Given the description of an element on the screen output the (x, y) to click on. 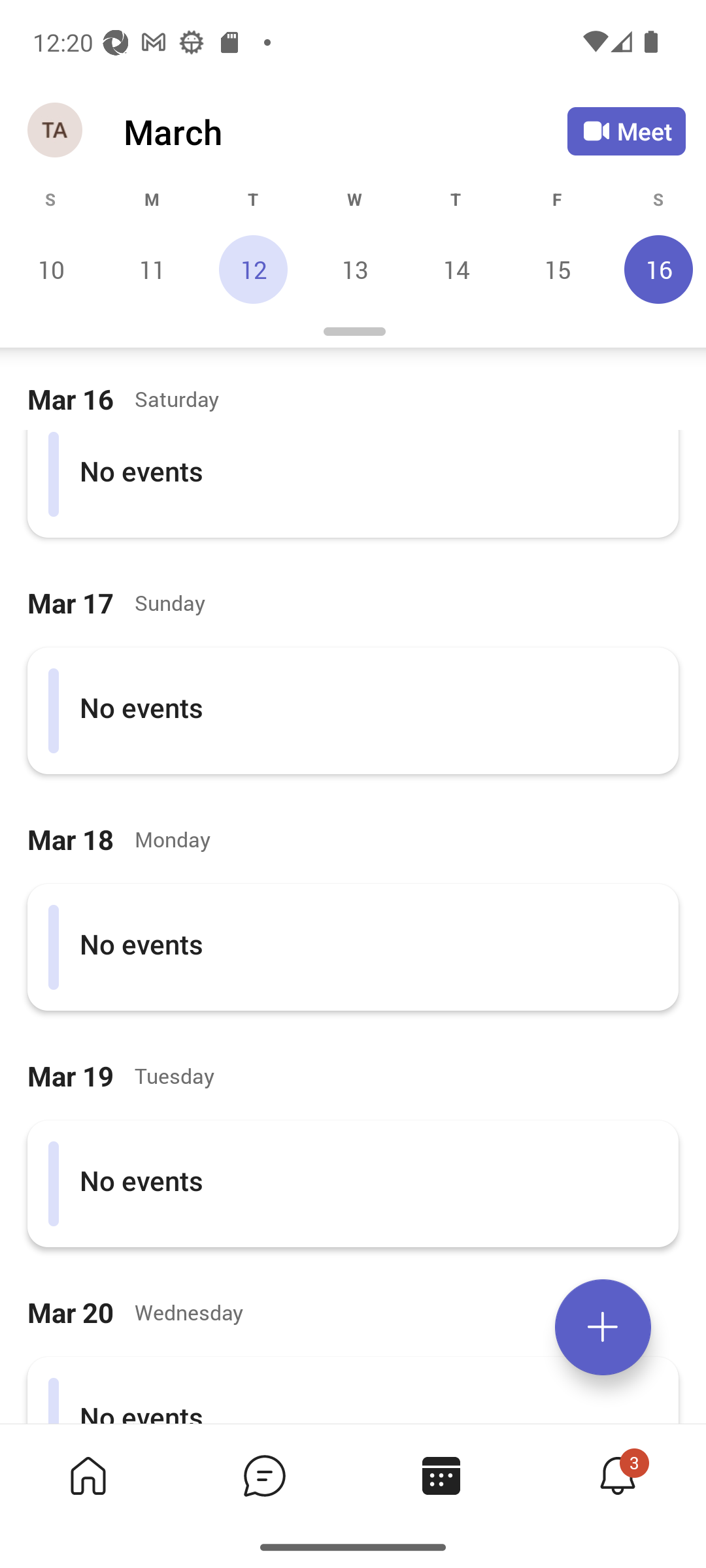
Navigation (56, 130)
Meet Meet now or join with an ID (626, 130)
March March Calendar Agenda View (345, 131)
Sunday, March 10 10 (50, 269)
Monday, March 11 11 (151, 269)
Tuesday, March 12, Today 12 (253, 269)
Wednesday, March 13 13 (354, 269)
Thursday, March 14 14 (455, 269)
Friday, March 15 15 (556, 269)
Saturday, March 16, Selected 16 (656, 269)
Expand meetings menu (602, 1327)
Home tab,1 of 4, not selected (88, 1475)
Chat tab,2 of 4, not selected (264, 1475)
Calendar tab, 3 of 4 (441, 1475)
Activity tab,4 of 4, not selected, 3 new 3 (617, 1475)
